Given the description of an element on the screen output the (x, y) to click on. 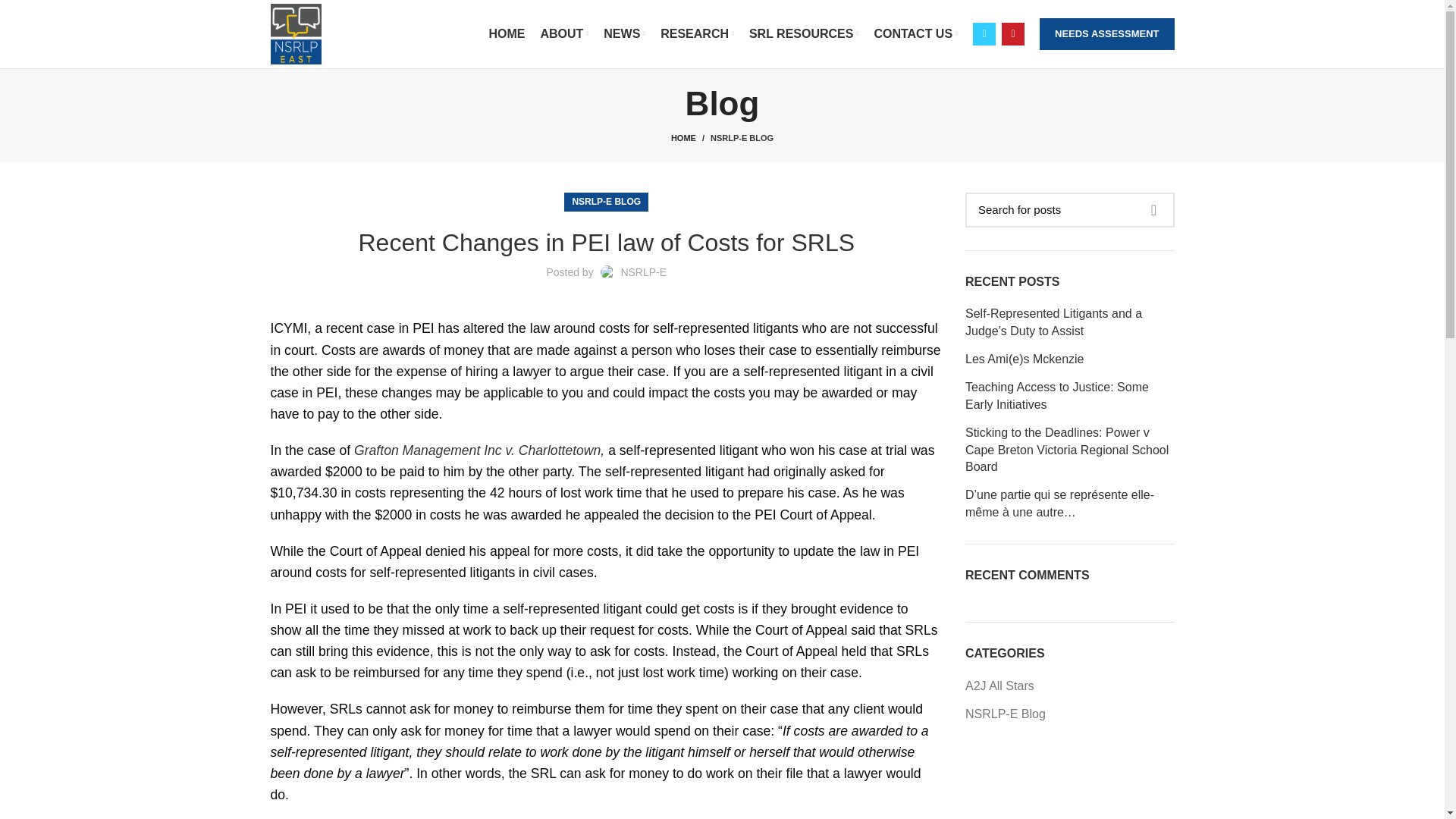
NSRLP-E BLOG (606, 201)
NSRLP-E BLOG (741, 137)
CONTACT US (915, 33)
HOME (506, 33)
NEWS (623, 33)
SRL RESOURCES (803, 33)
NEEDS ASSESSMENT (1106, 33)
Grafton Management Inc v. Charlottetown, (480, 450)
RESEARCH (696, 33)
NSRLP-E (643, 272)
HOME (690, 137)
ABOUT (563, 33)
Search for posts (1069, 209)
